Given the description of an element on the screen output the (x, y) to click on. 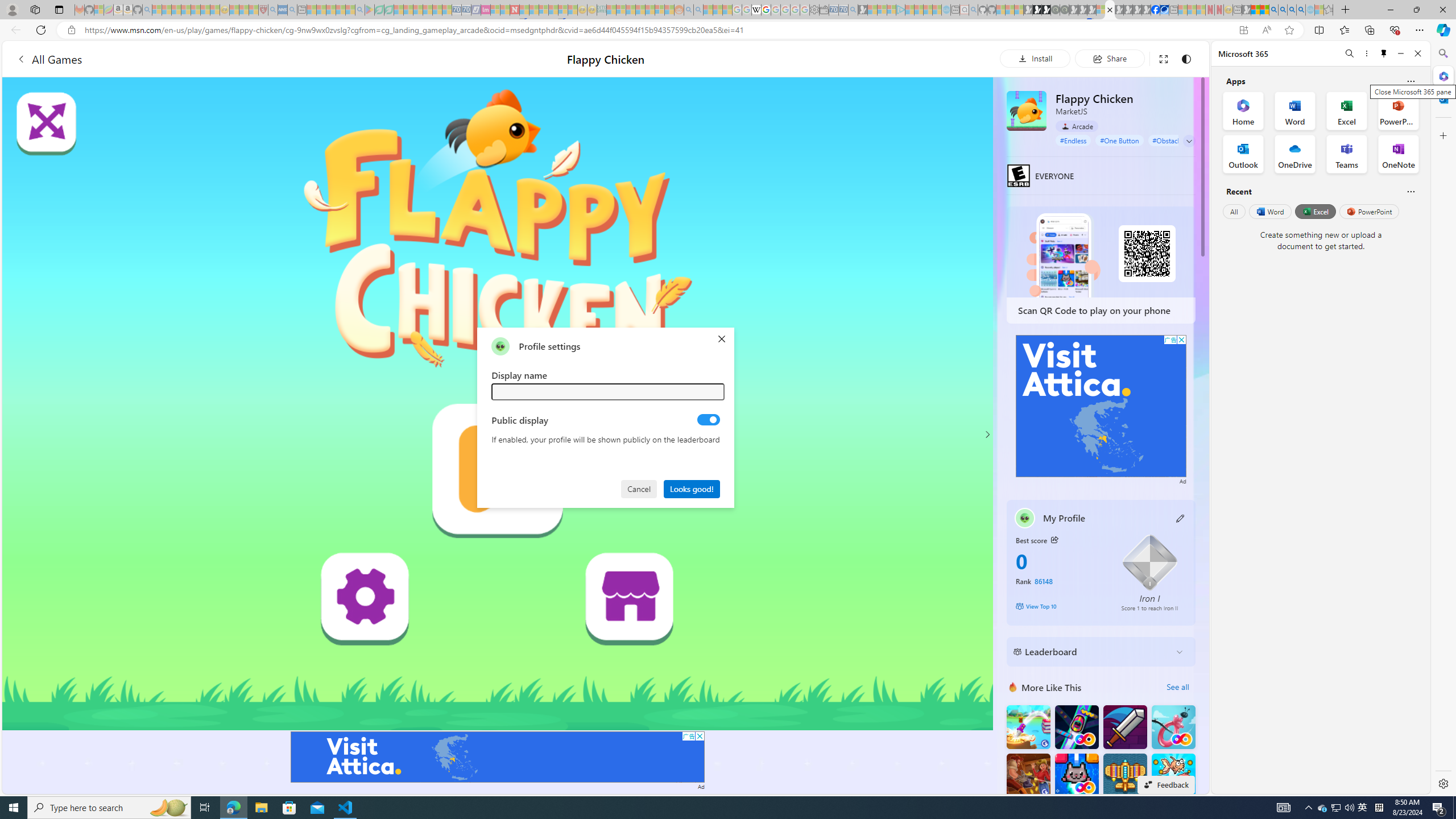
Class: expand-arrow neutral (1188, 141)
PowerPoint Office App (1398, 110)
Nordace | Facebook (1154, 9)
Future Focus Report 2024 - Sleeping (1064, 9)
